Given the description of an element on the screen output the (x, y) to click on. 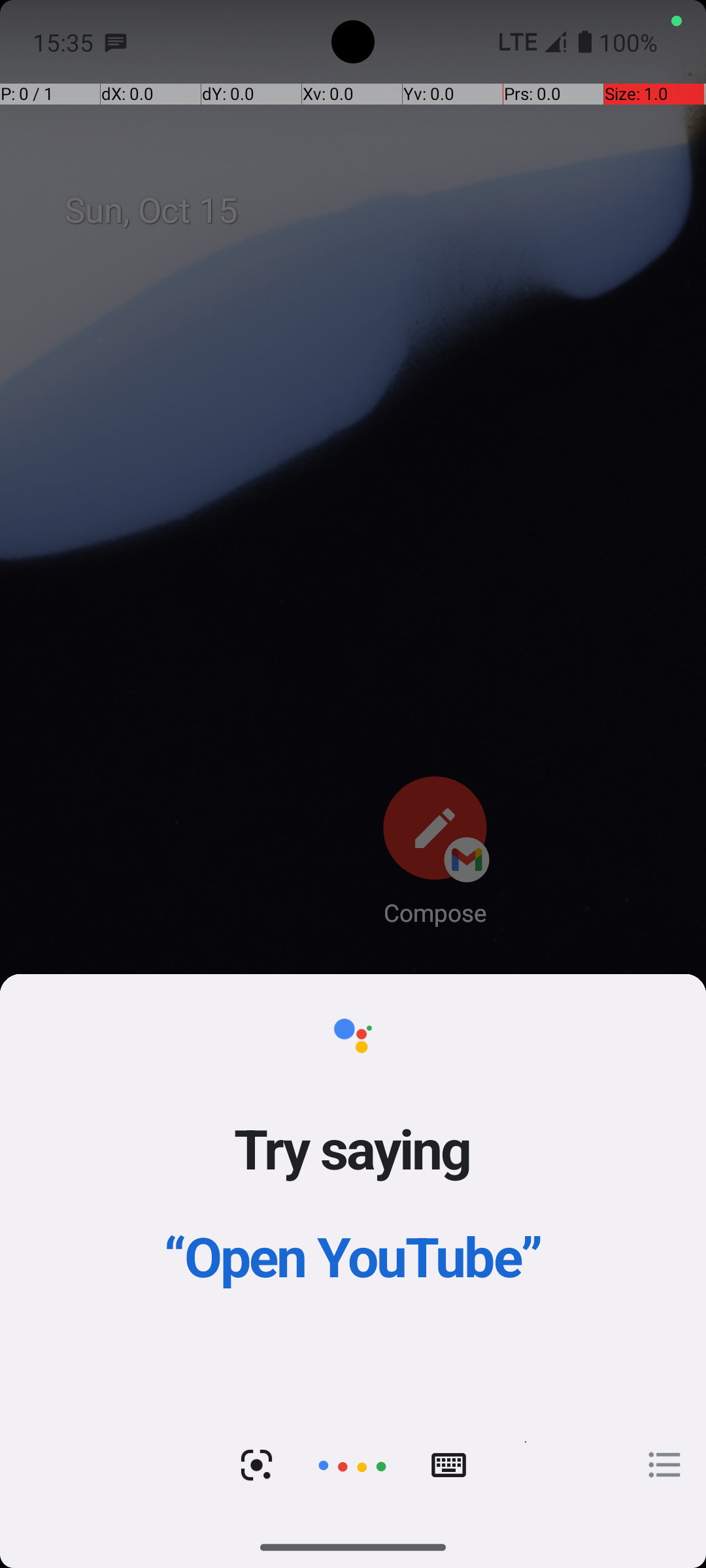
Tap to dismiss Assistant Element type: android.view.ViewGroup (353, 804)
Google Assistant widget. Element type: android.support.v7.widget.RecyclerView (353, 1250)
Google Assistant greeting container. Element type: android.widget.LinearLayout (353, 1188)
Tap to cancel Element type: android.view.View (351, 1465)
Type mode Element type: android.widget.ImageView (448, 1465)
Google Assistant greeting. Element type: android.widget.FrameLayout (353, 1250)
Open explore page Element type: android.widget.ImageView (664, 1464)
Try saying Element type: android.widget.TextView (352, 1147)
“Open YouTube” Element type: android.widget.TextView (352, 1255)
